Given the description of an element on the screen output the (x, y) to click on. 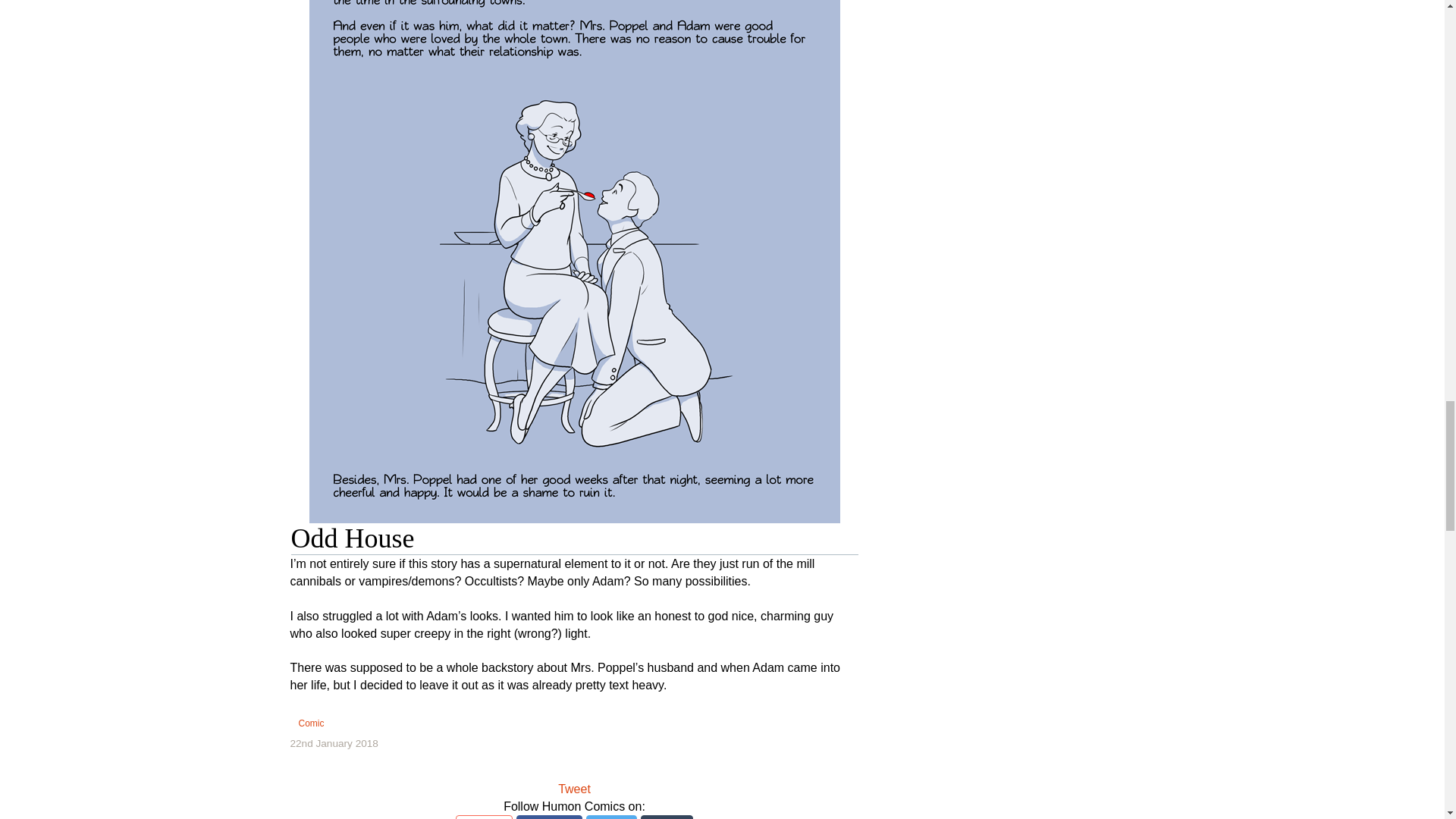
Random Comic (573, 766)
Humon Comics from the beginning (346, 766)
Tweet (574, 788)
Comic (310, 722)
Facebook (549, 816)
Patreon (483, 816)
